Given the description of an element on the screen output the (x, y) to click on. 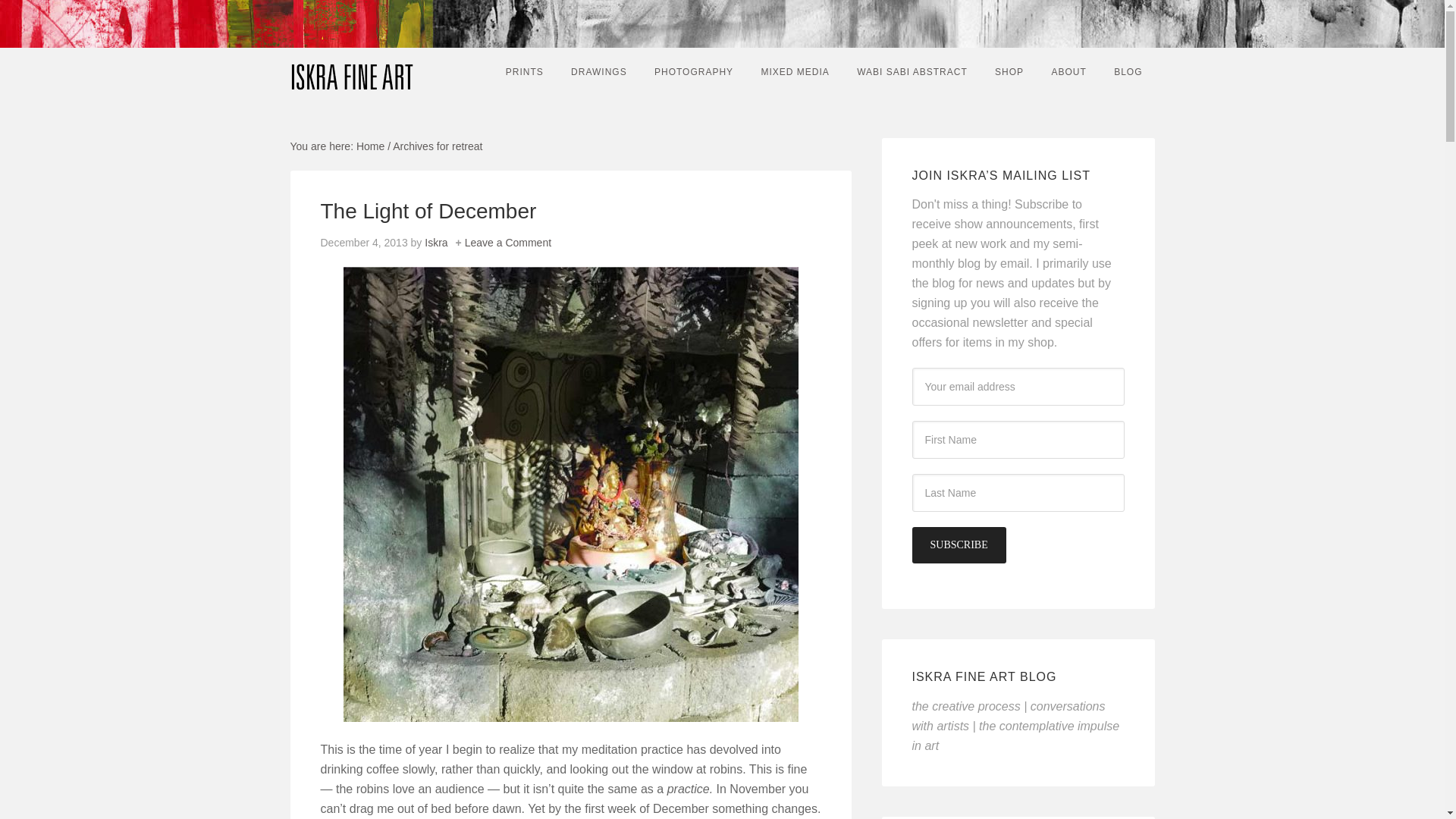
SHOP (1008, 71)
PRINTS (524, 71)
Leave a Comment (507, 242)
Home (370, 146)
BLOG (1128, 71)
ABOUT (1068, 71)
DRAWINGS (599, 71)
PHOTOGRAPHY (693, 71)
Iskra Fine Art (351, 70)
Subscribe (958, 545)
MIXED MEDIA (794, 71)
Iskra (435, 242)
The Light of December (427, 210)
WABI SABI ABSTRACT (911, 71)
